Given the description of an element on the screen output the (x, y) to click on. 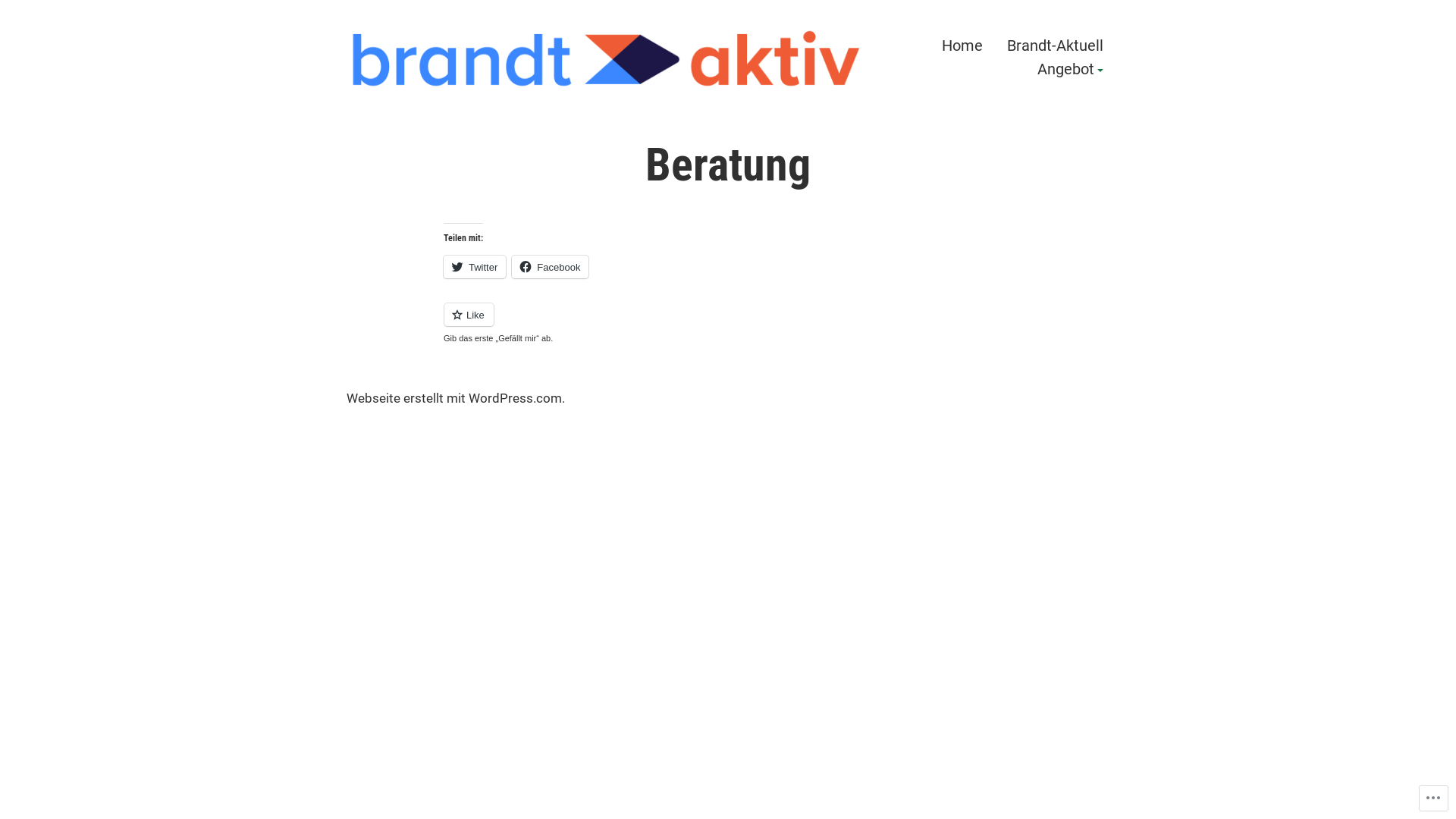
Home Element type: text (961, 44)
Liken oder rebloggen Element type: hover (727, 323)
Webseite erstellt mit WordPress.com Element type: text (453, 398)
Twitter Element type: text (474, 266)
Facebook Element type: text (549, 266)
Angebot Element type: text (1070, 70)
Brandt-Aktuell Element type: text (1055, 44)
